Given the description of an element on the screen output the (x, y) to click on. 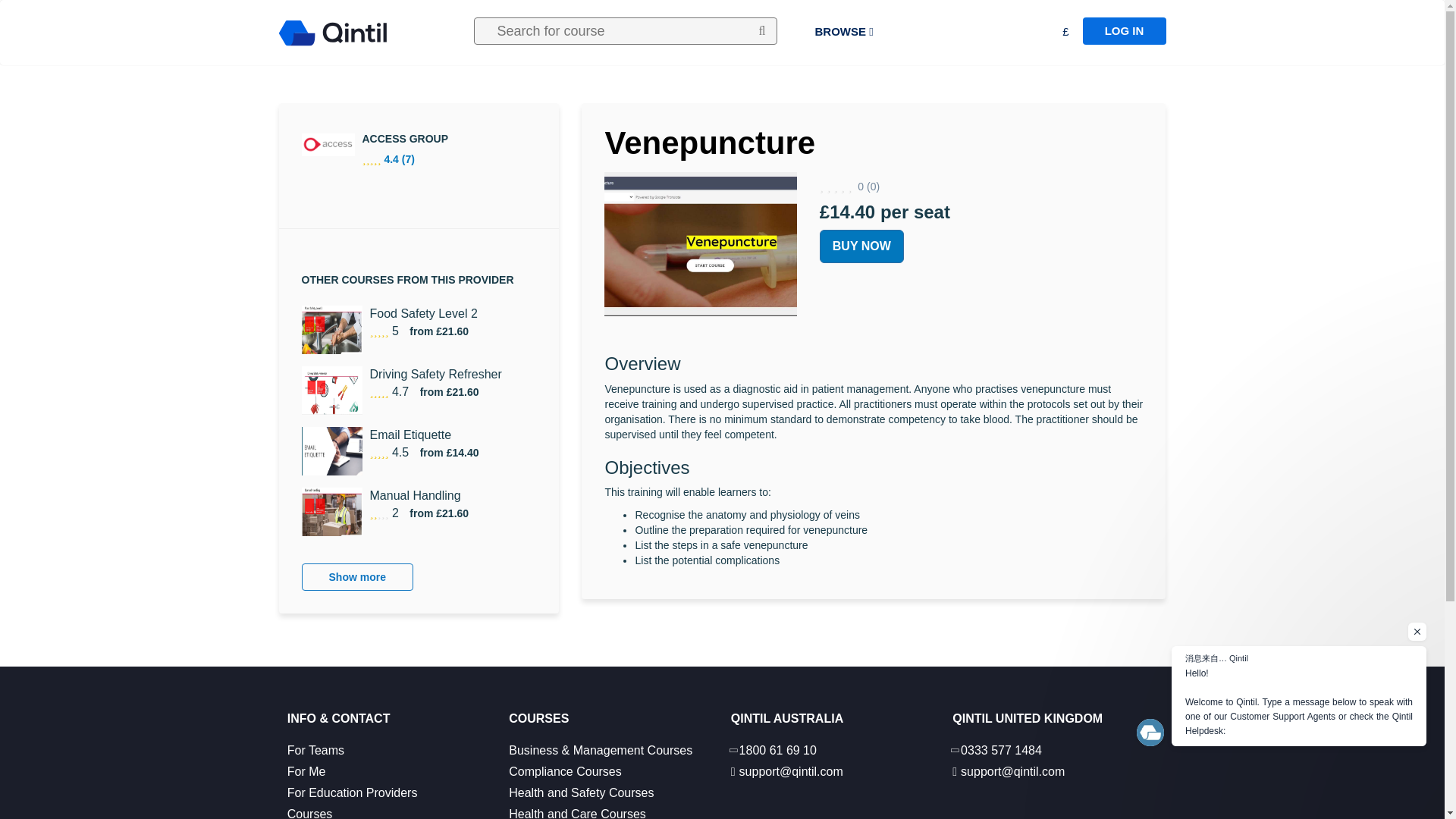
BROWSE (842, 31)
